Given the description of an element on the screen output the (x, y) to click on. 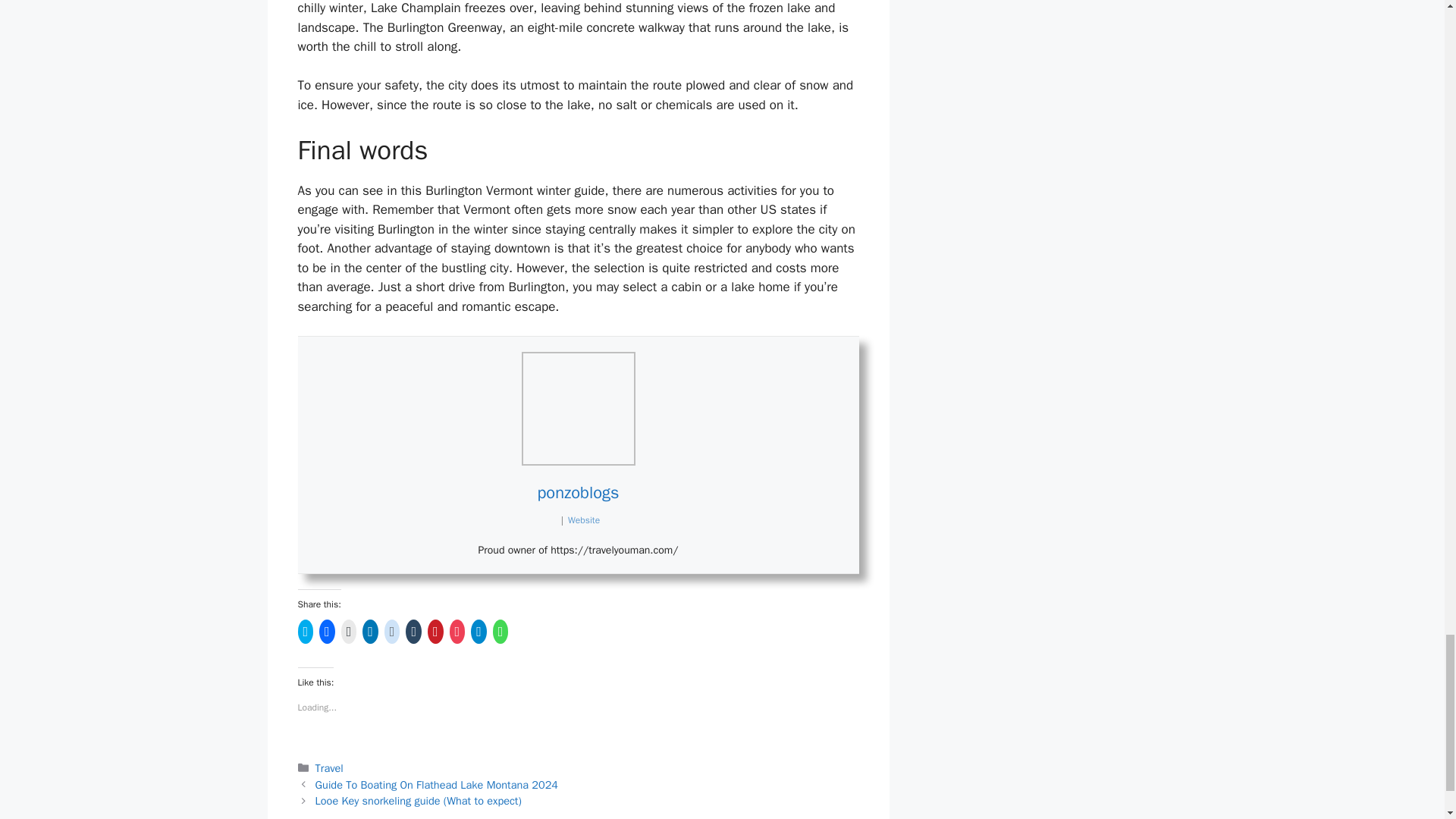
ponzoblogs (577, 492)
Website (583, 520)
Travel (329, 767)
Guide To Boating On Flathead Lake Montana 2024 (436, 784)
